Given the description of an element on the screen output the (x, y) to click on. 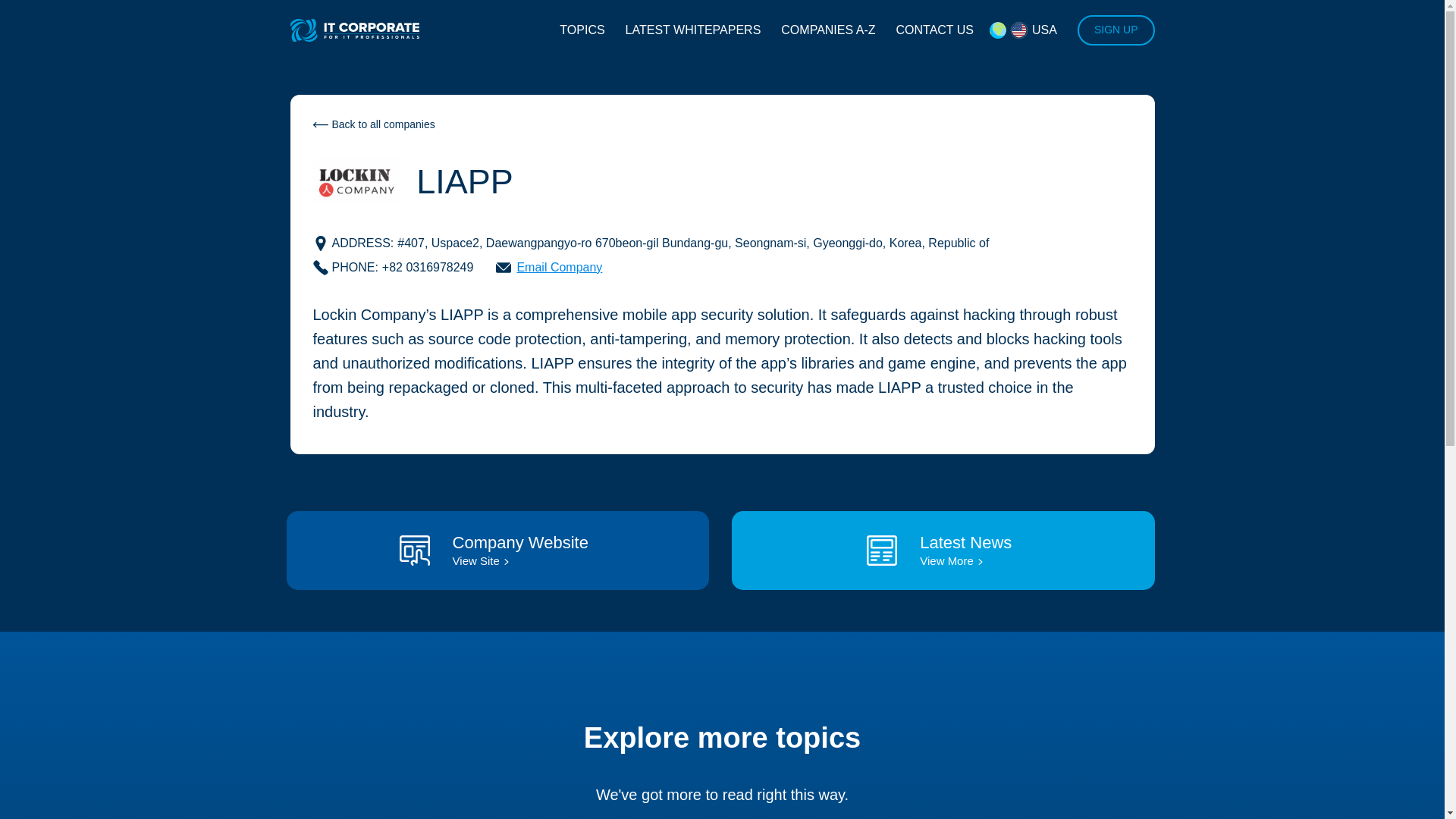
Back to all companies (373, 123)
TOPICS (581, 30)
USA (1022, 30)
CONTACT US (934, 30)
LATEST WHITEPAPERS (693, 30)
Email Company (549, 267)
SIGN UP (1115, 30)
COMPANIES A-Z (827, 30)
